Given the description of an element on the screen output the (x, y) to click on. 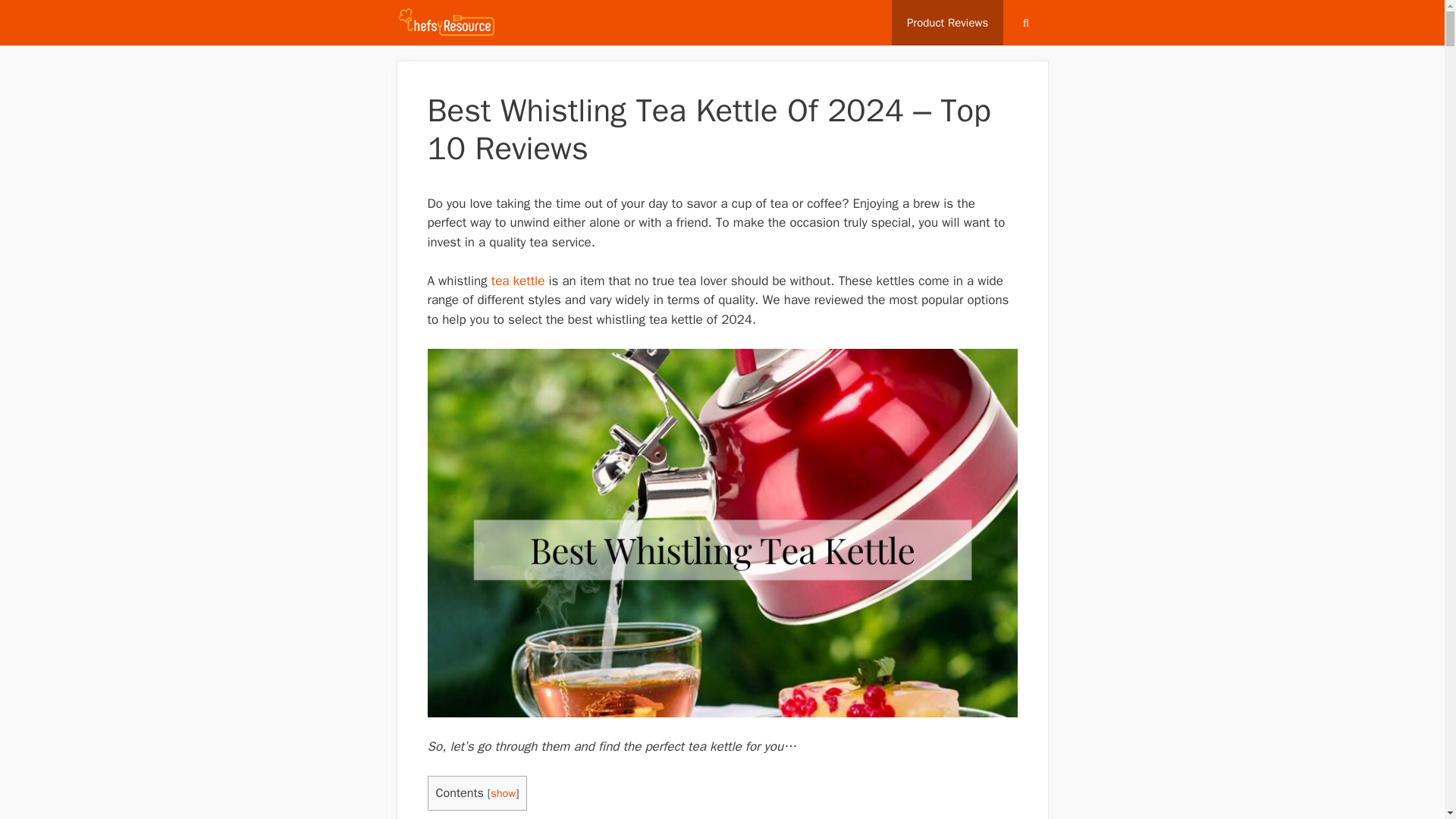
tea kettle (518, 280)
show (502, 793)
Chef's Resource (446, 22)
Chef's Resource (449, 22)
Product Reviews (947, 22)
